Given the description of an element on the screen output the (x, y) to click on. 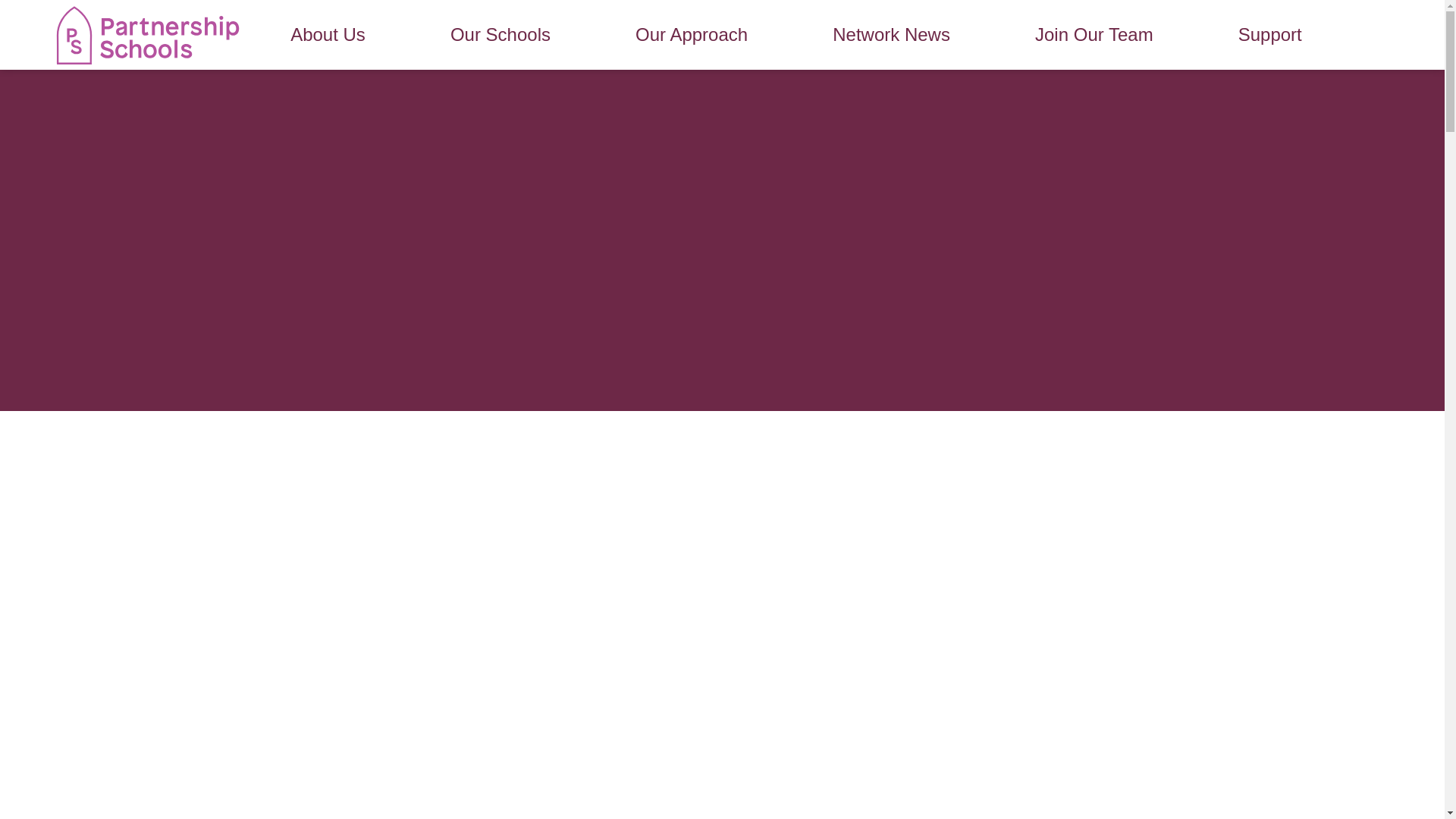
Our Schools (500, 34)
Our Approach (691, 34)
About Us (327, 34)
Join Our Team (1094, 34)
Network News (890, 34)
Support (1270, 34)
